Given the description of an element on the screen output the (x, y) to click on. 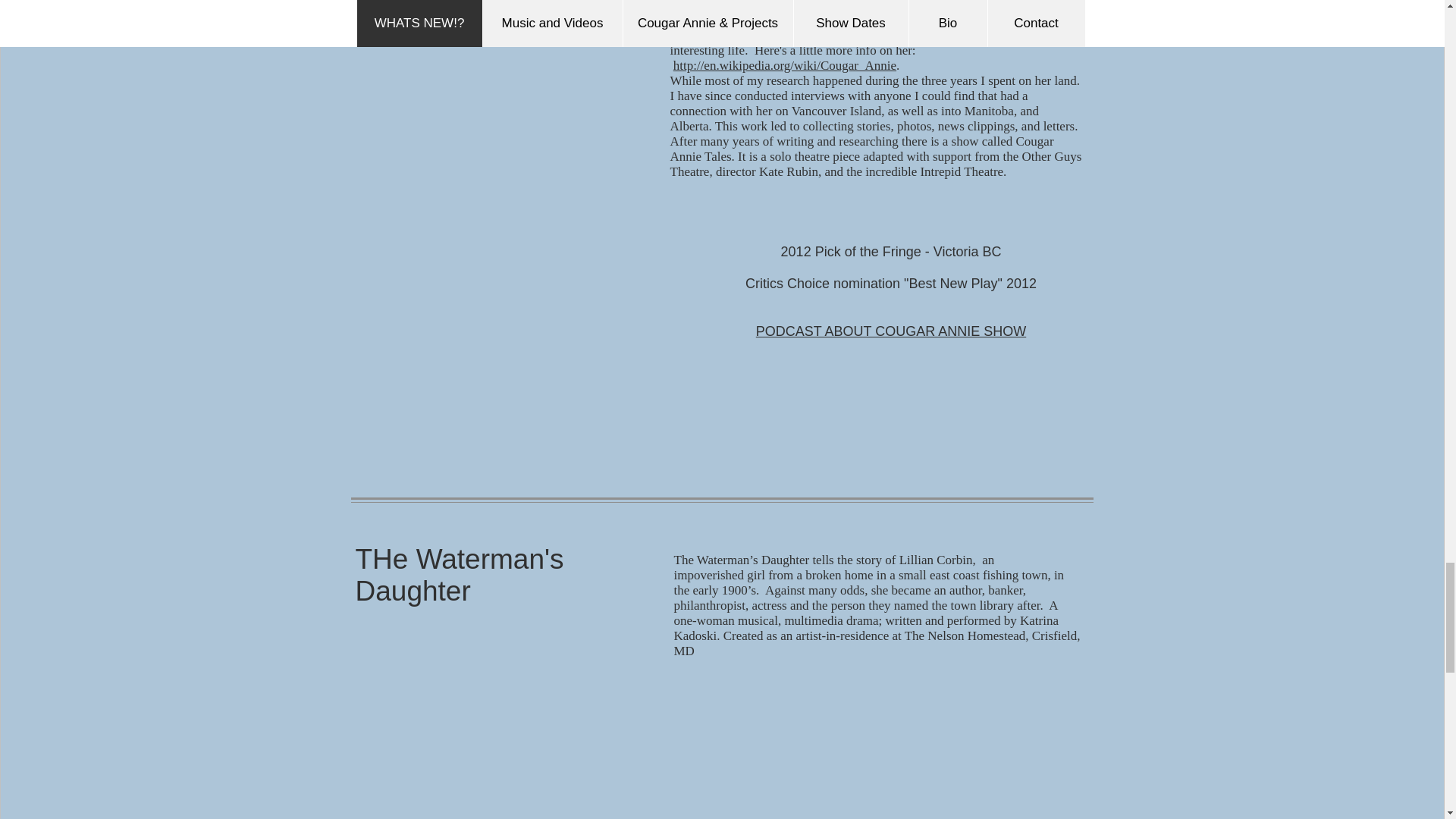
PODCAST ABOUT COUGAR ANNIE SHOW (890, 331)
